Given the description of an element on the screen output the (x, y) to click on. 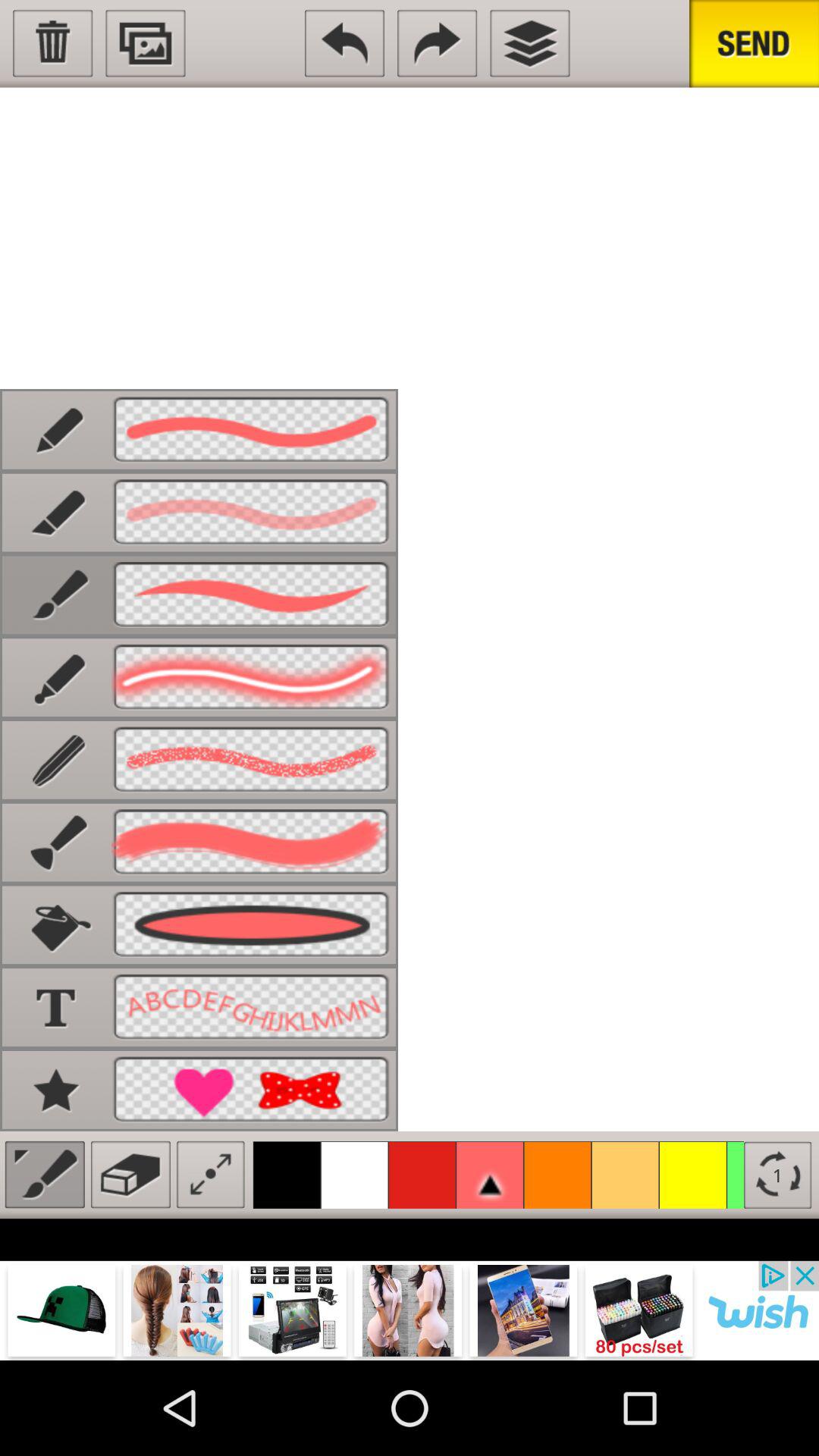
picture (145, 43)
